Given the description of an element on the screen output the (x, y) to click on. 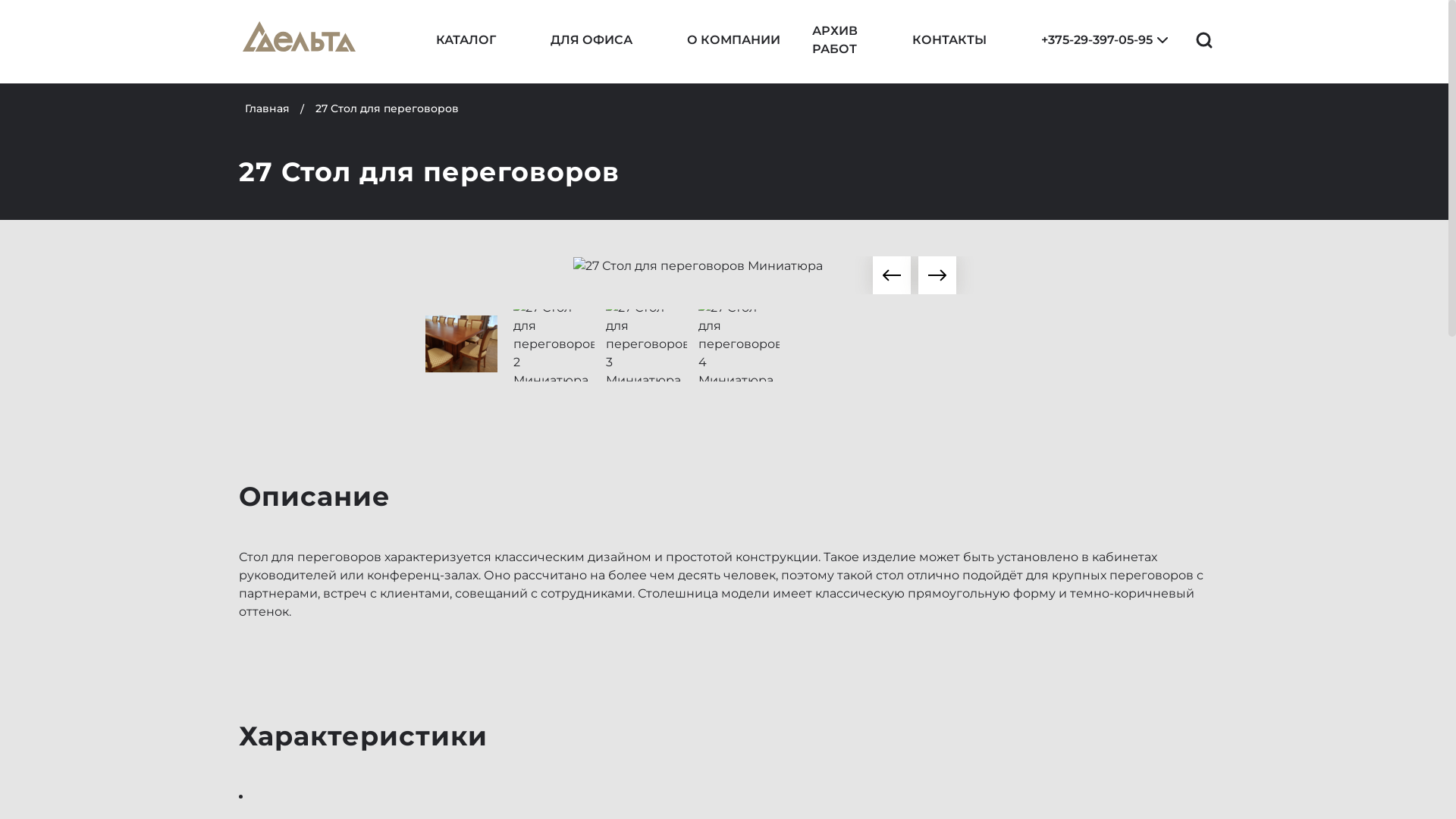
+375-29-397-05-95 Element type: text (1085, 41)
